Given the description of an element on the screen output the (x, y) to click on. 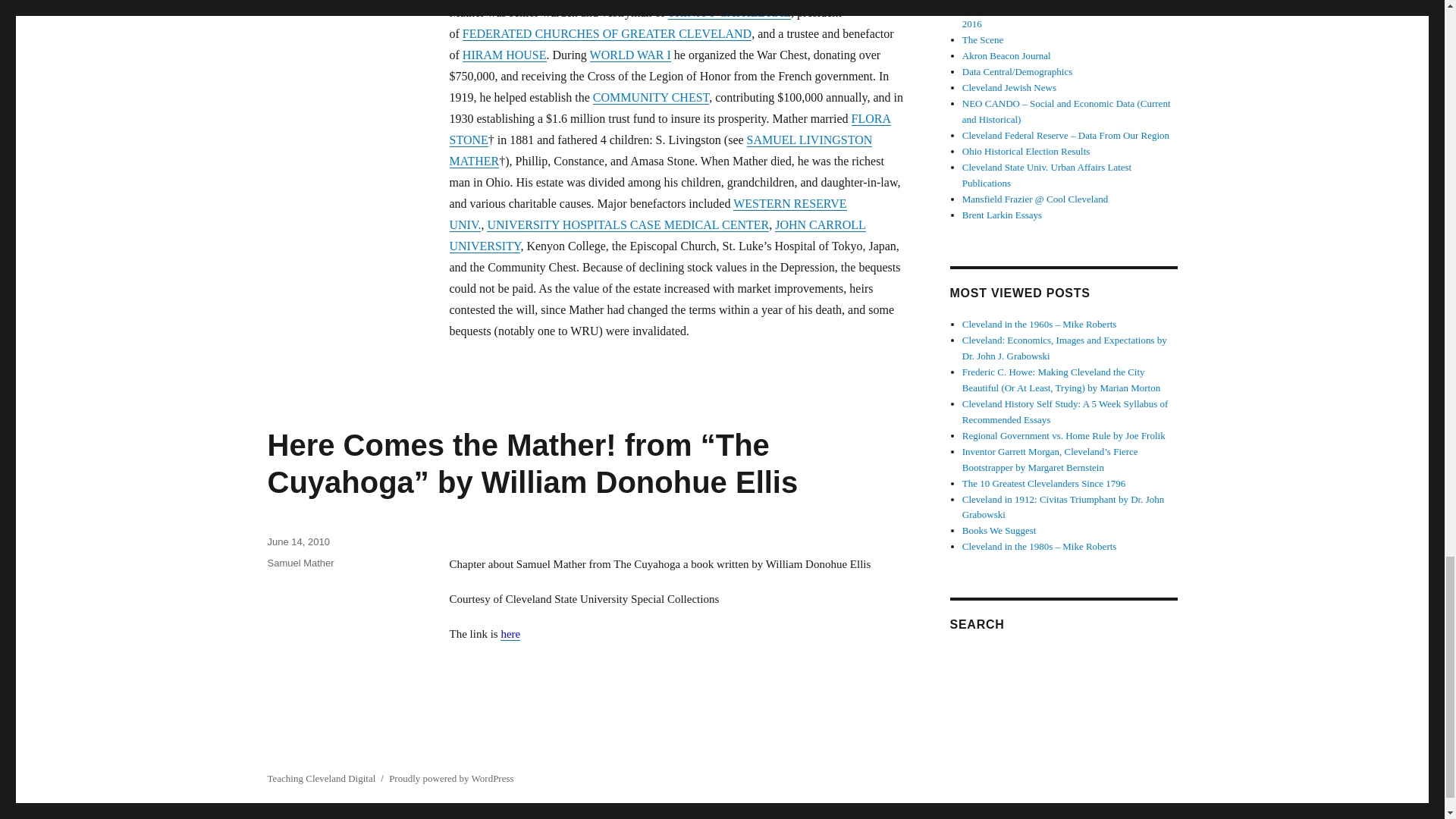
FLORA STONE (668, 129)
COMMUNITY CHEST (650, 97)
TRINITY CATHEDRAL (730, 11)
JOHN CARROLL UNIVERSITY (656, 235)
HIRAM HOUSE (505, 54)
SAMUEL LIVINGSTON MATHER (660, 150)
FEDERATED CHURCHES OF GREATER CLEVELAND (607, 33)
WESTERN RESERVE UNIV. (646, 213)
WORLD WAR I (630, 54)
UNIVERSITY HOSPITALS CASE MEDICAL CENTER (627, 224)
